Given the description of an element on the screen output the (x, y) to click on. 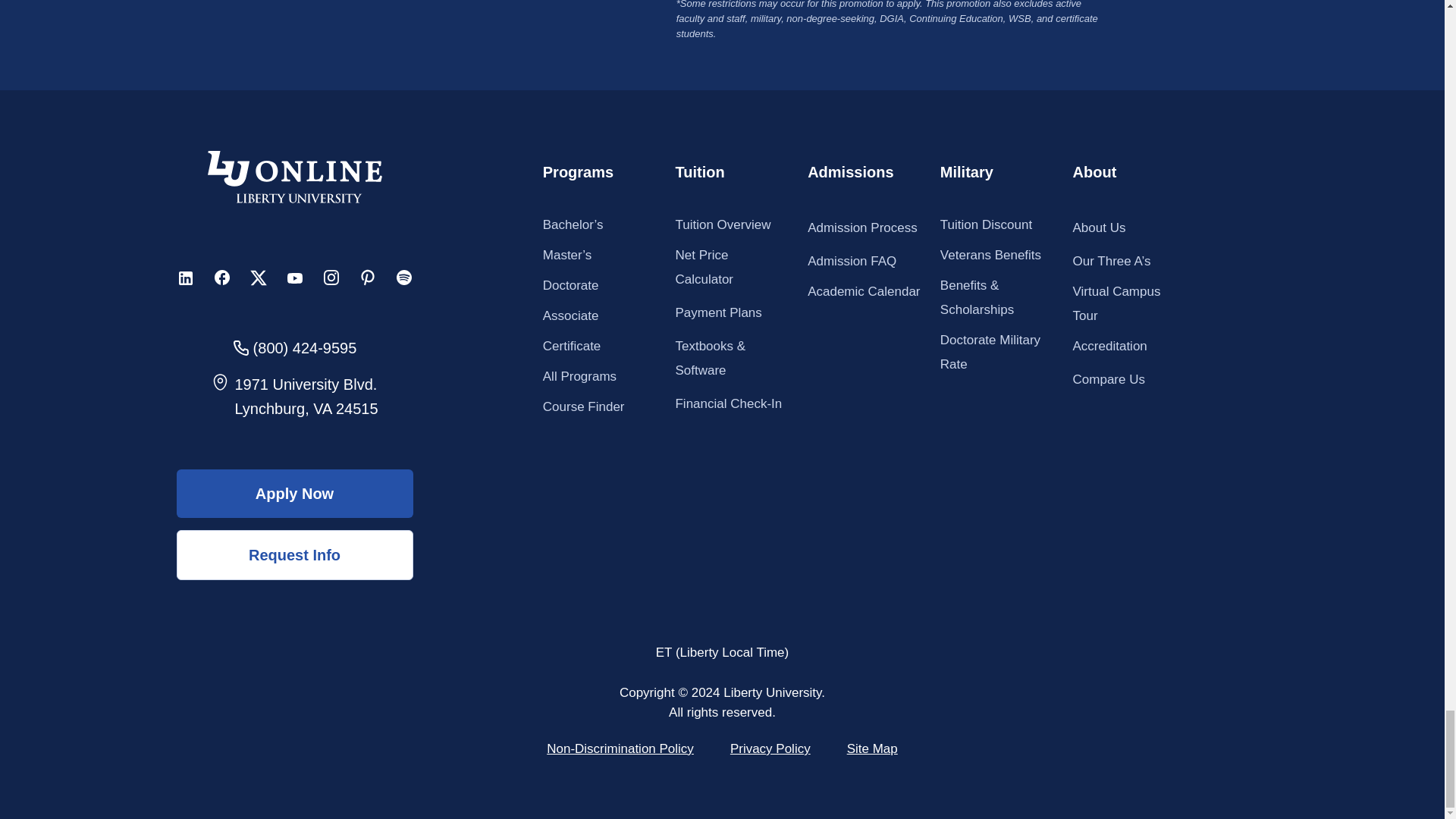
twitter (257, 277)
linked-in (184, 277)
Programs (577, 172)
youtube (293, 277)
pinterest (366, 277)
Military (966, 172)
spotify (403, 277)
About (1094, 172)
Admissions (850, 172)
facebook (221, 277)
